Given the description of an element on the screen output the (x, y) to click on. 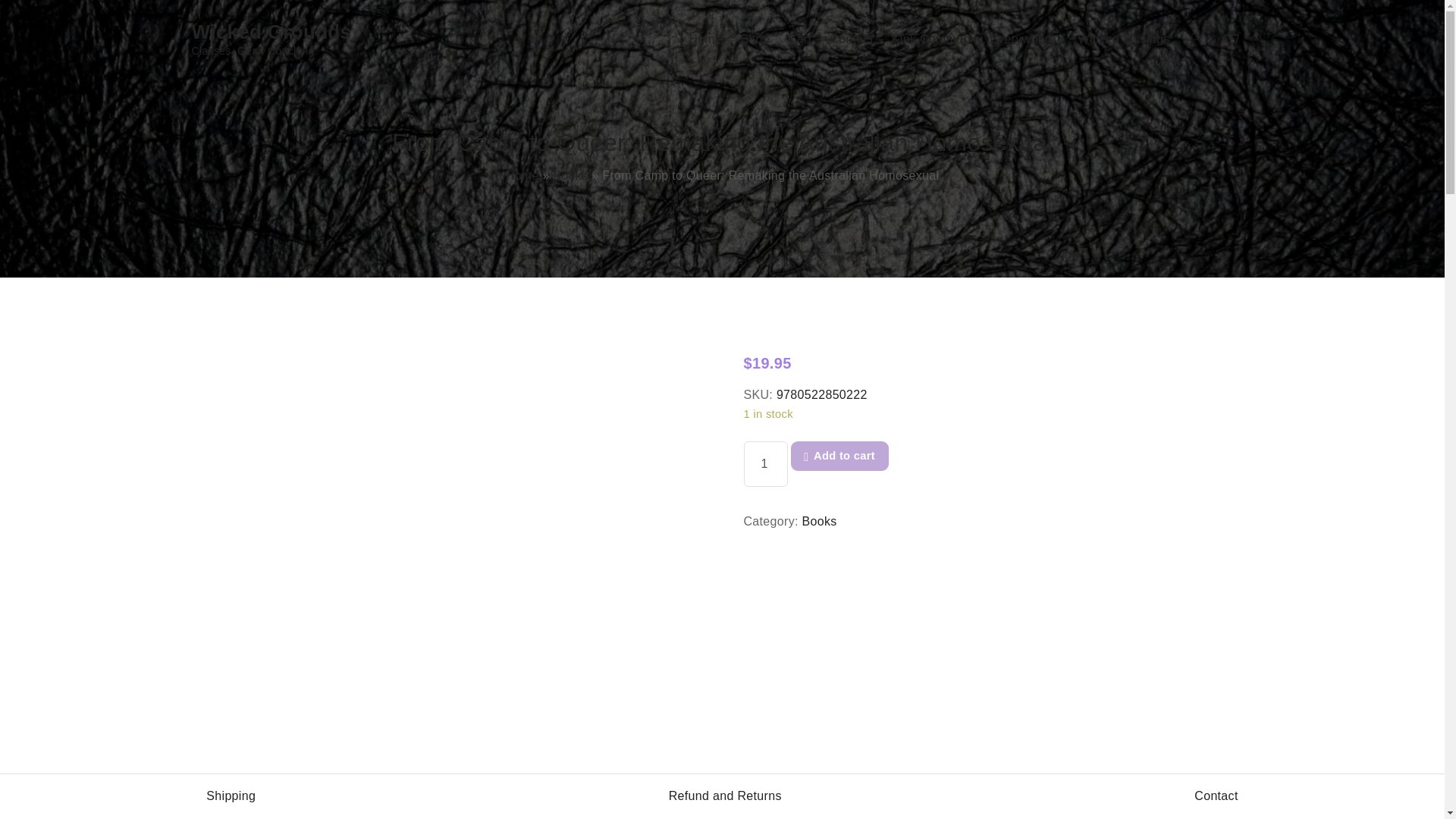
Kink Community. Everywhere. (975, 39)
Contact (1215, 795)
Home (521, 174)
Shipping (231, 795)
1 (764, 463)
Home (705, 39)
Refund and Returns (276, 38)
Books (724, 795)
Add to cart (819, 521)
